Given the description of an element on the screen output the (x, y) to click on. 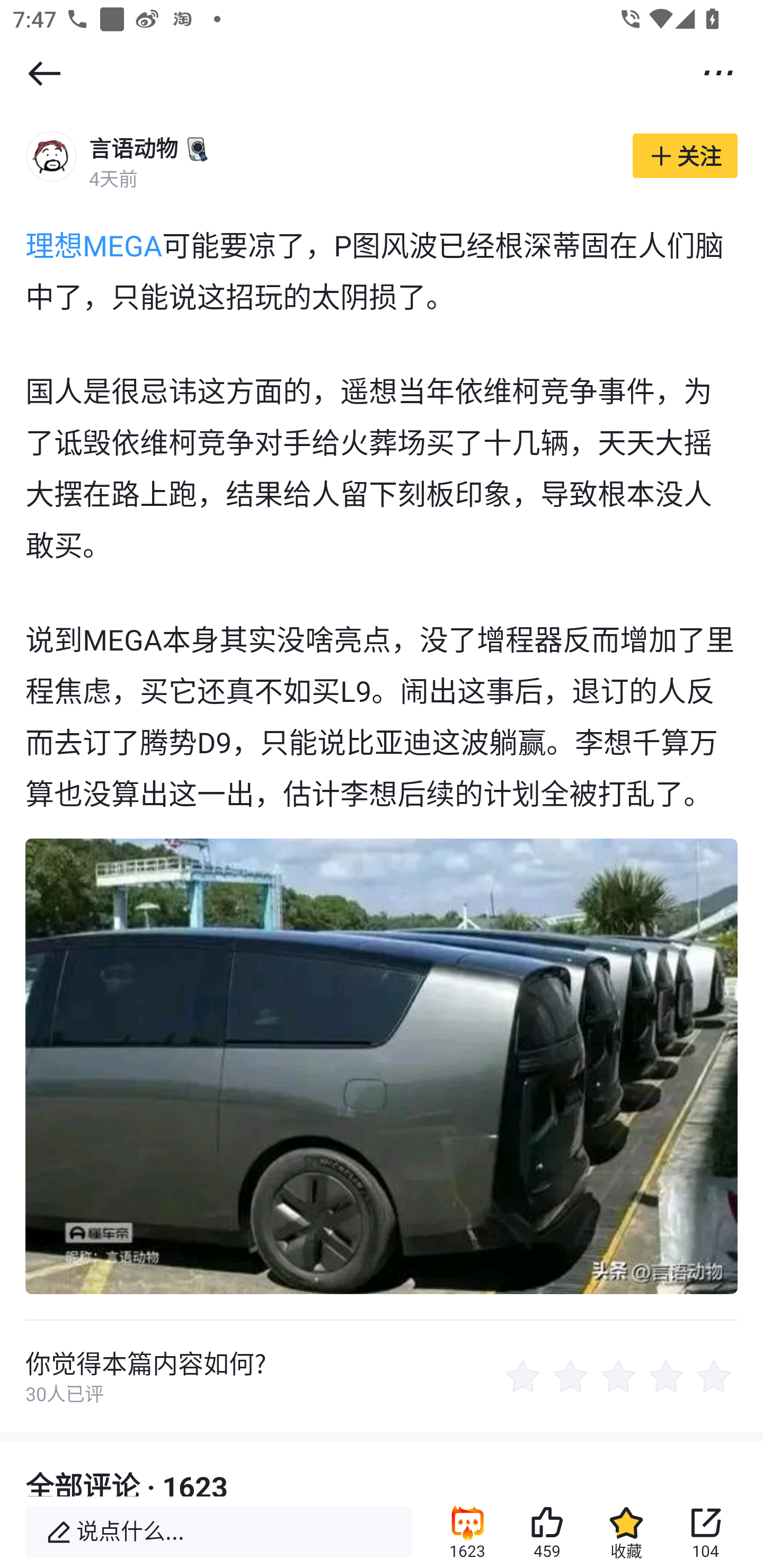
 (718, 71)
 (44, 73)
言语动物 (133, 148)
 关注 (684, 155)
1623 (467, 1531)
459 (546, 1531)
收藏 (625, 1531)
 104 (705, 1531)
 说点什么... (218, 1531)
